Given the description of an element on the screen output the (x, y) to click on. 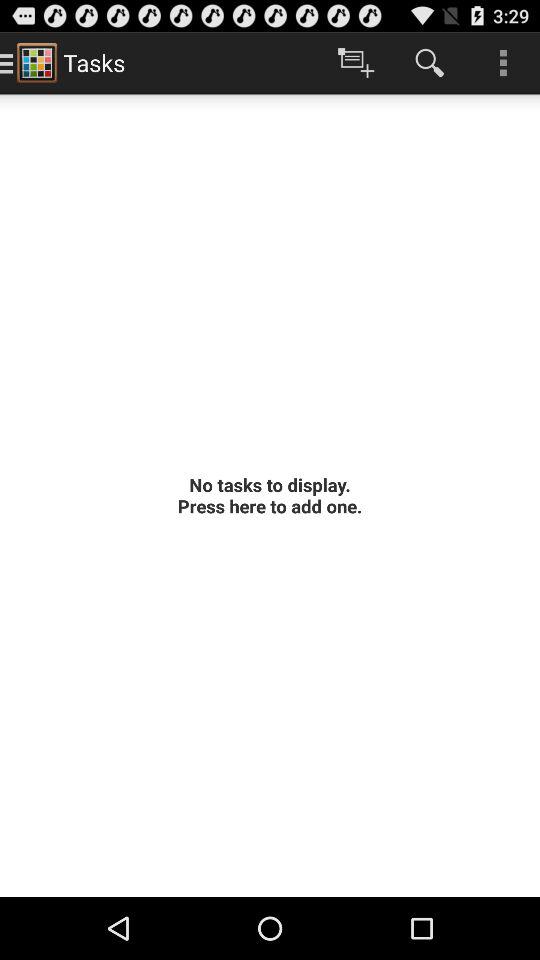
select the icon above no tasks to icon (503, 62)
